Given the description of an element on the screen output the (x, y) to click on. 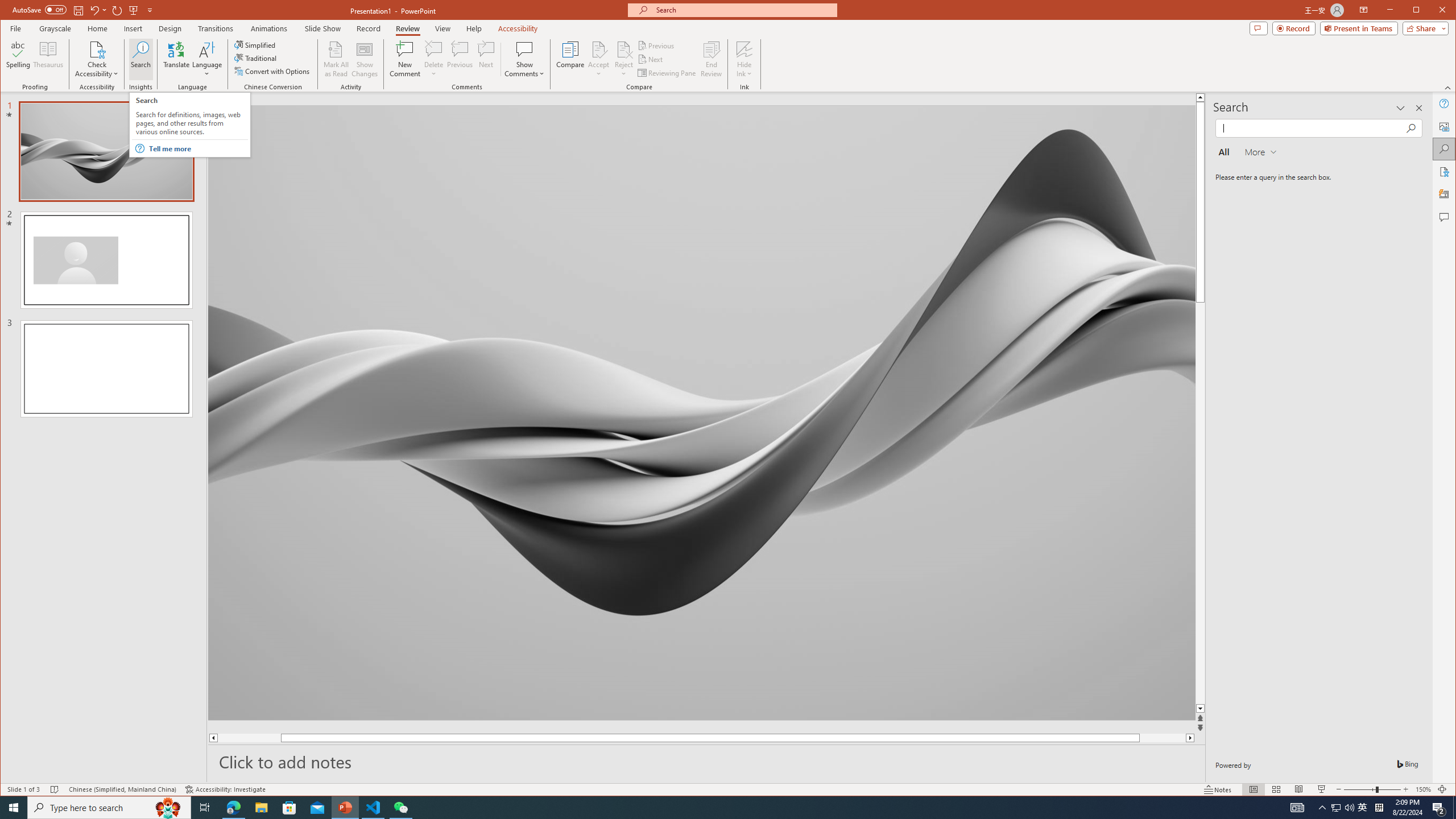
Show desktop (1454, 807)
Mark All as Read (335, 59)
Type here to search (108, 807)
Show Comments (1335, 807)
File Explorer (524, 48)
Show Comments (261, 807)
End Review (524, 59)
Zoom 150% (710, 59)
Simplified (1422, 789)
